Given the description of an element on the screen output the (x, y) to click on. 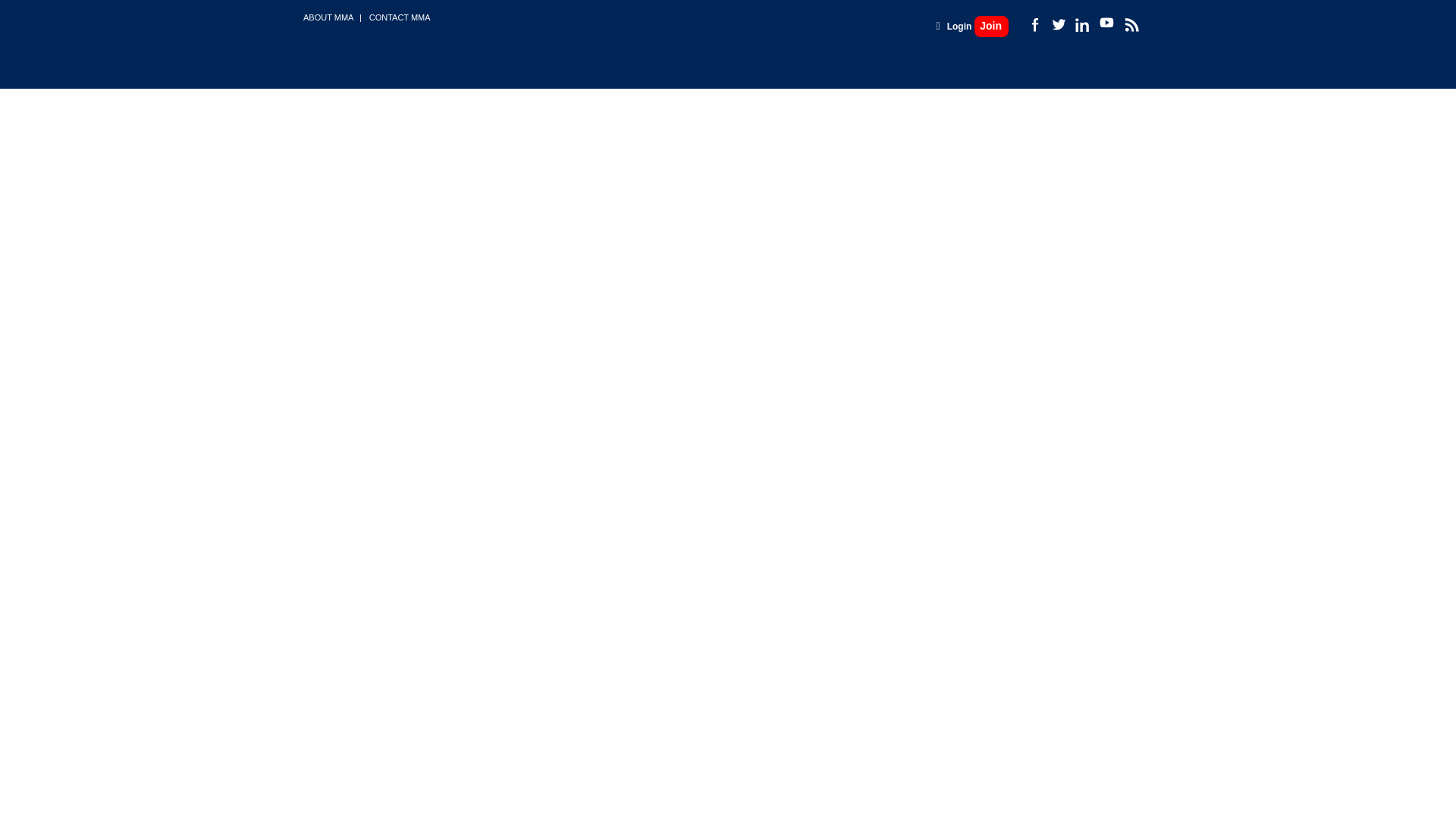
Login (959, 26)
ABOUT MMA (327, 17)
CONTACT MMA (399, 17)
LinkedIn (1080, 23)
Facebook (1034, 23)
Twitter (1057, 23)
RSS (1130, 23)
YouTube (1105, 22)
Join (991, 25)
